Given the description of an element on the screen output the (x, y) to click on. 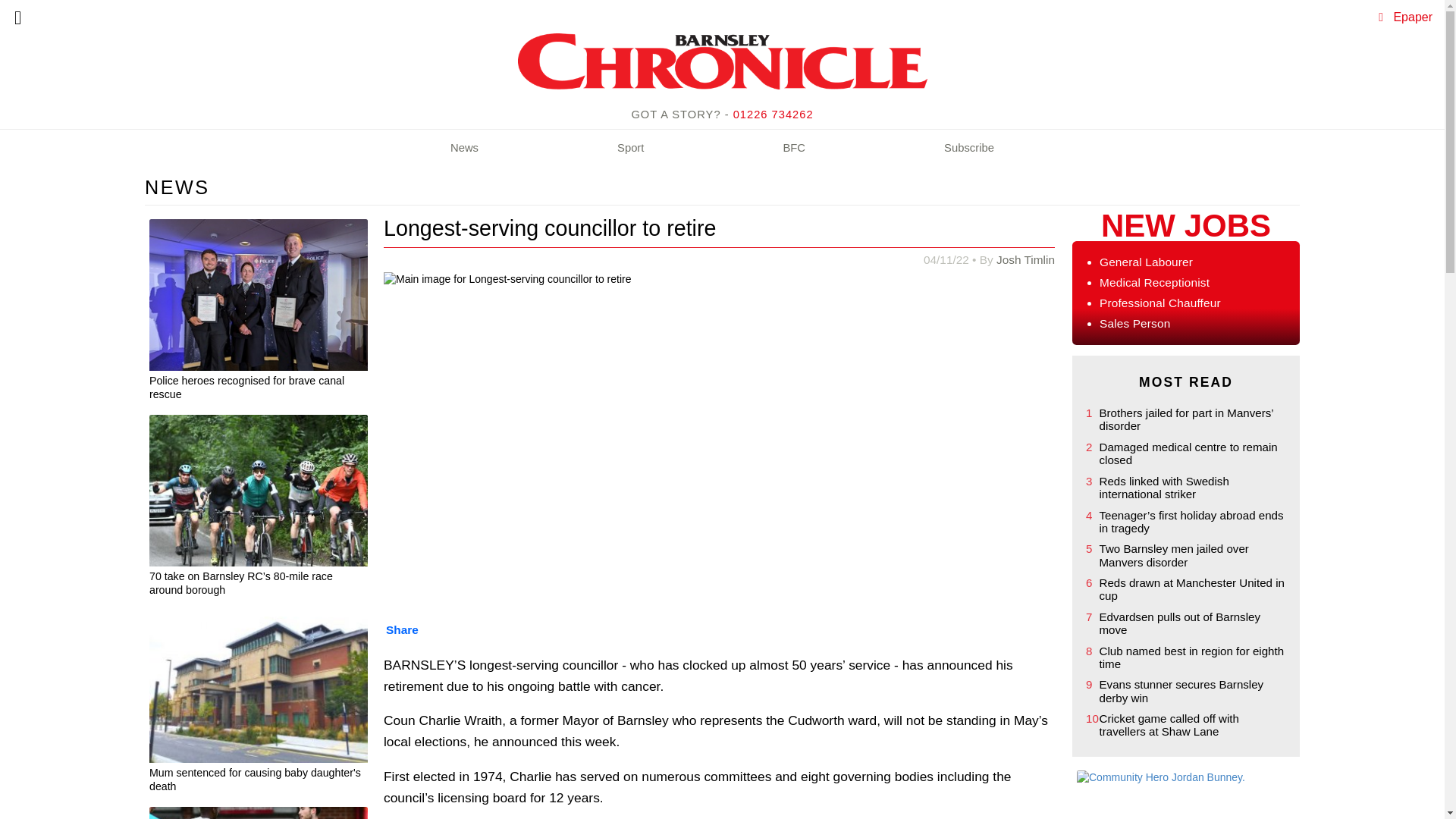
Epaper (1412, 16)
01226 734262 (773, 114)
Police heroes recognised for brave canal rescue (258, 389)
Subscribe (968, 148)
News (464, 148)
Sport (630, 148)
BFC (793, 148)
